Given the description of an element on the screen output the (x, y) to click on. 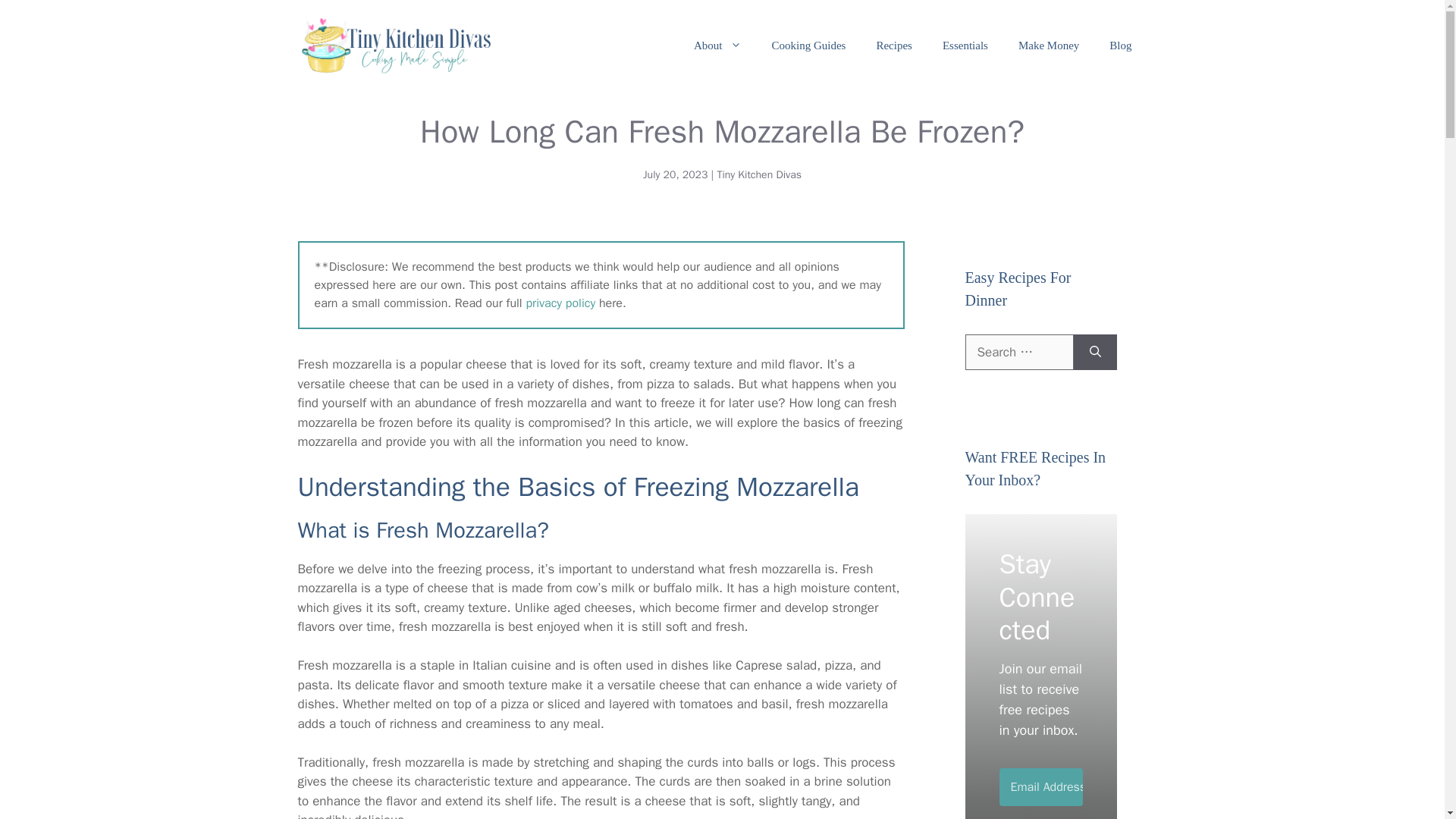
View all posts by Tiny Kitchen Divas (759, 174)
Tiny Kitchen Divas (759, 174)
Search for: (1018, 352)
Cooking Guides (809, 44)
privacy policy (560, 303)
Blog (1120, 44)
Recipes (893, 44)
About (717, 44)
Make Money (1048, 44)
Essentials (965, 44)
